Given the description of an element on the screen output the (x, y) to click on. 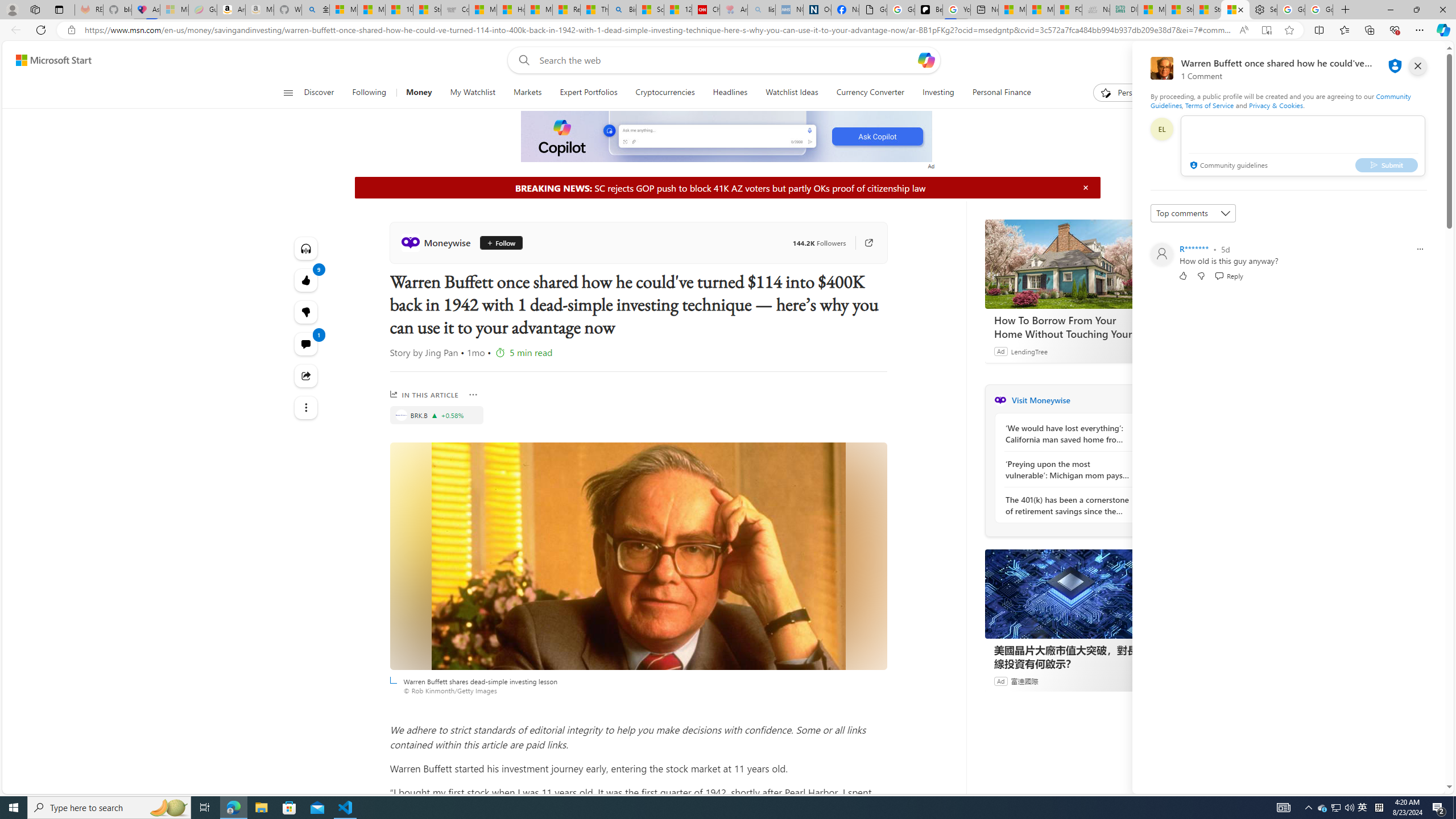
Report comment (1419, 249)
Personal Finance (1001, 92)
Expert Portfolios (588, 92)
Enter your search term (726, 59)
9 (305, 312)
Markets (526, 92)
Microsoft-Report a Concern to Bing - Sleeping (174, 9)
View comments 1 Comment (305, 343)
See more (305, 407)
